Given the description of an element on the screen output the (x, y) to click on. 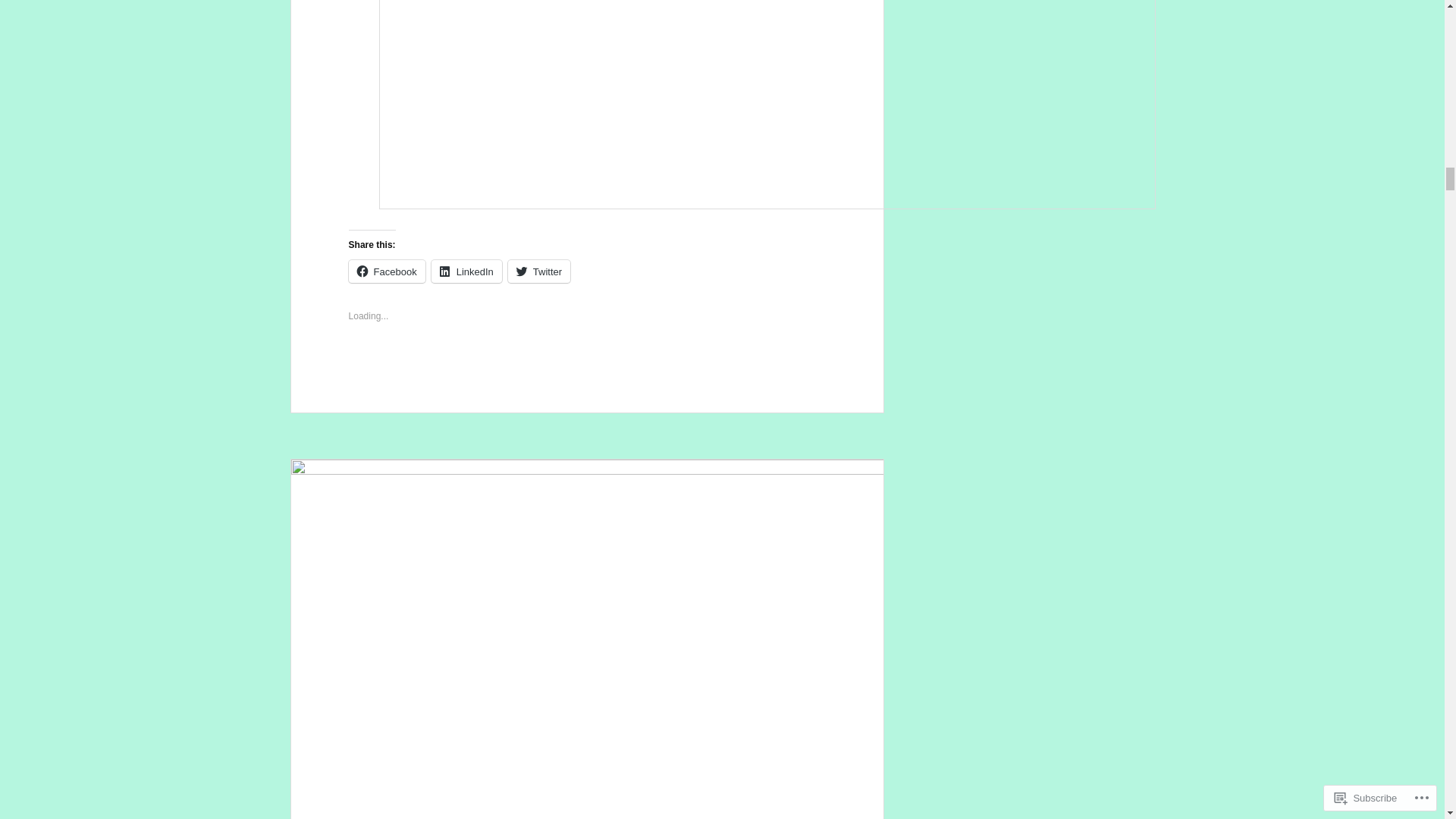
Click to share on LinkedIn (466, 271)
Click to share on Facebook (387, 271)
Click to share on Twitter (539, 271)
